Given the description of an element on the screen output the (x, y) to click on. 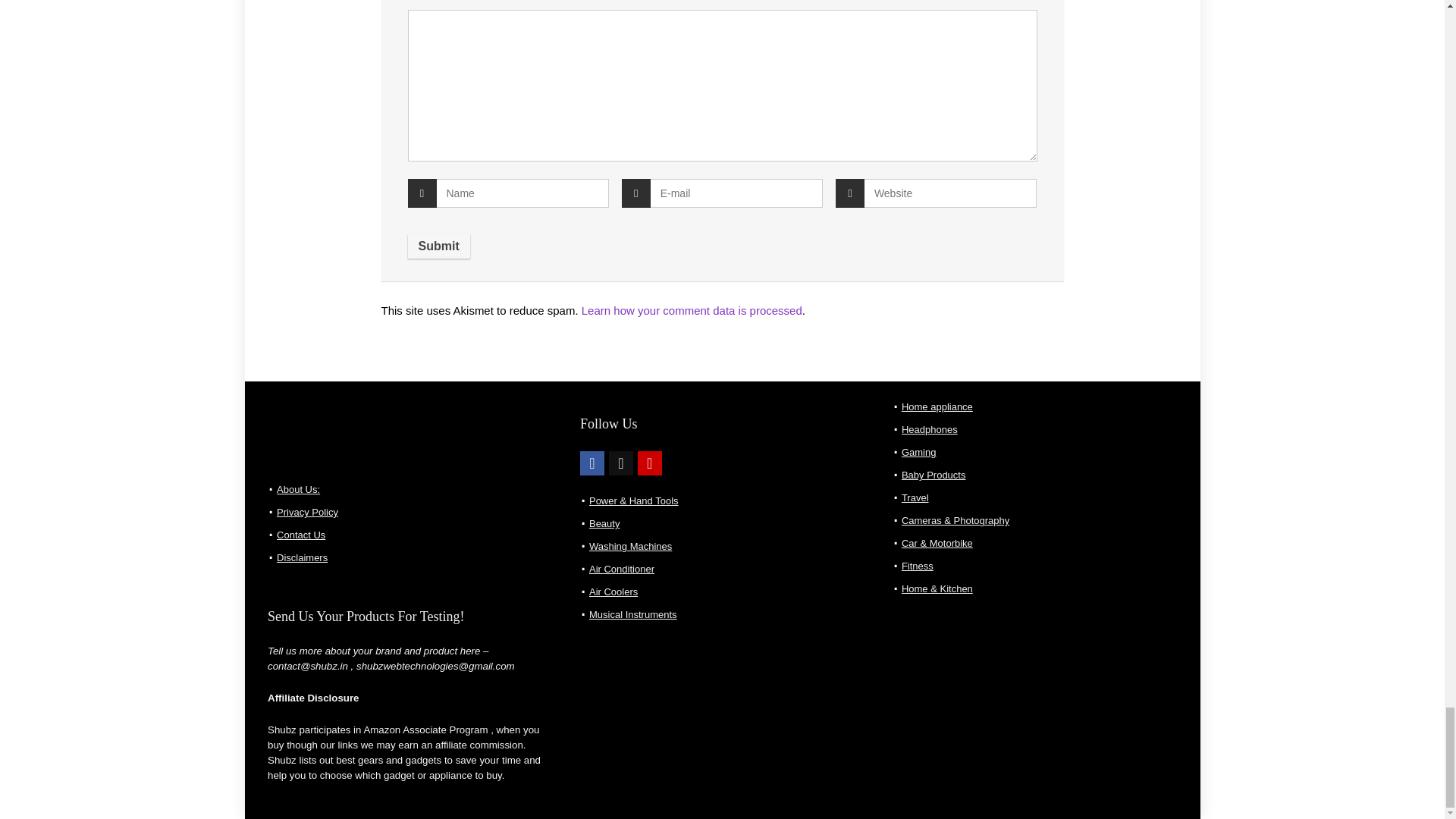
Submit (438, 246)
